Given the description of an element on the screen output the (x, y) to click on. 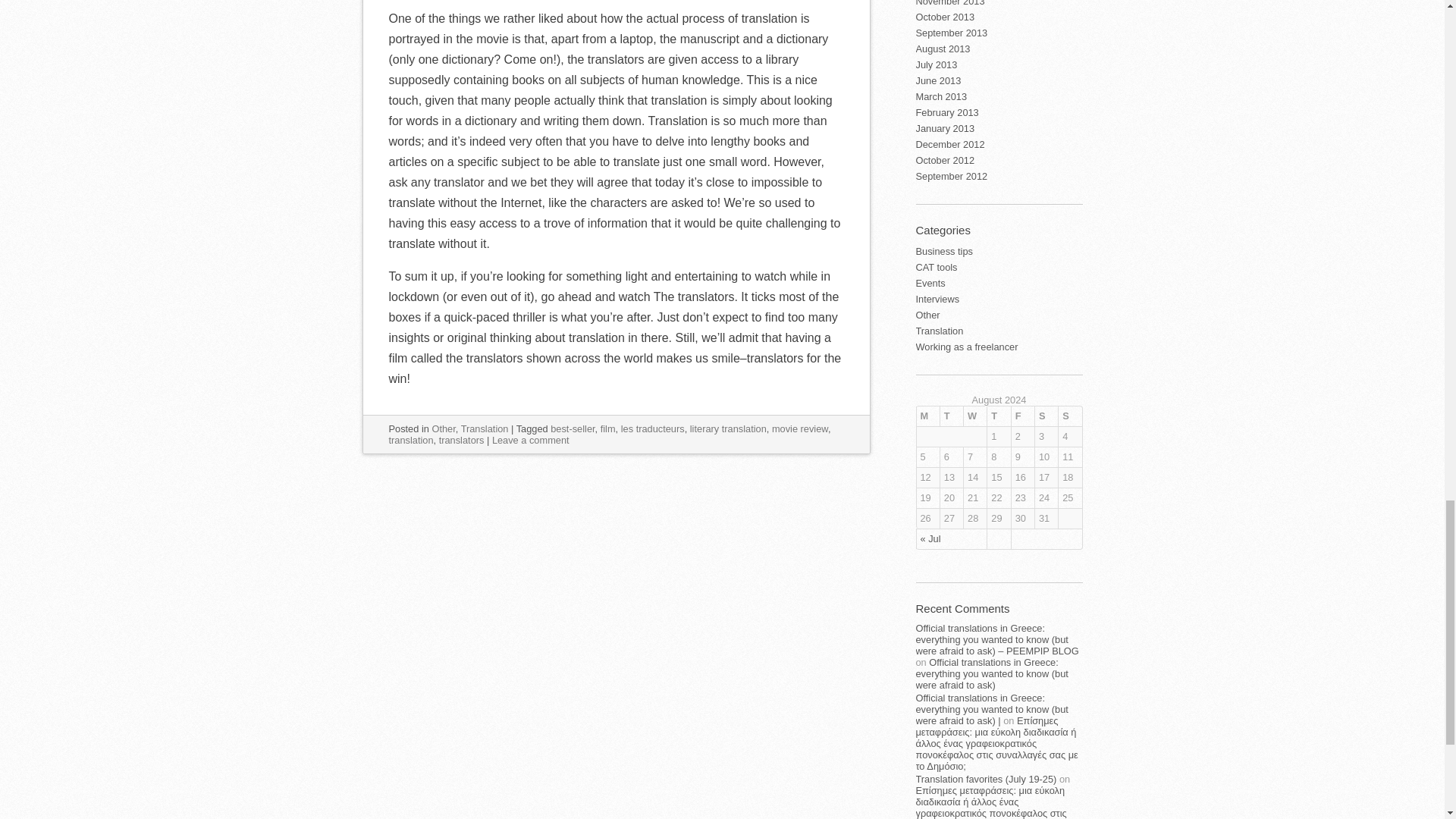
Wednesday (974, 415)
film (607, 428)
translators (461, 439)
translation (410, 439)
best-seller (572, 428)
les traducteurs (652, 428)
Sunday (1069, 415)
literary translation (728, 428)
movie review (799, 428)
Monday (927, 415)
